Given the description of an element on the screen output the (x, y) to click on. 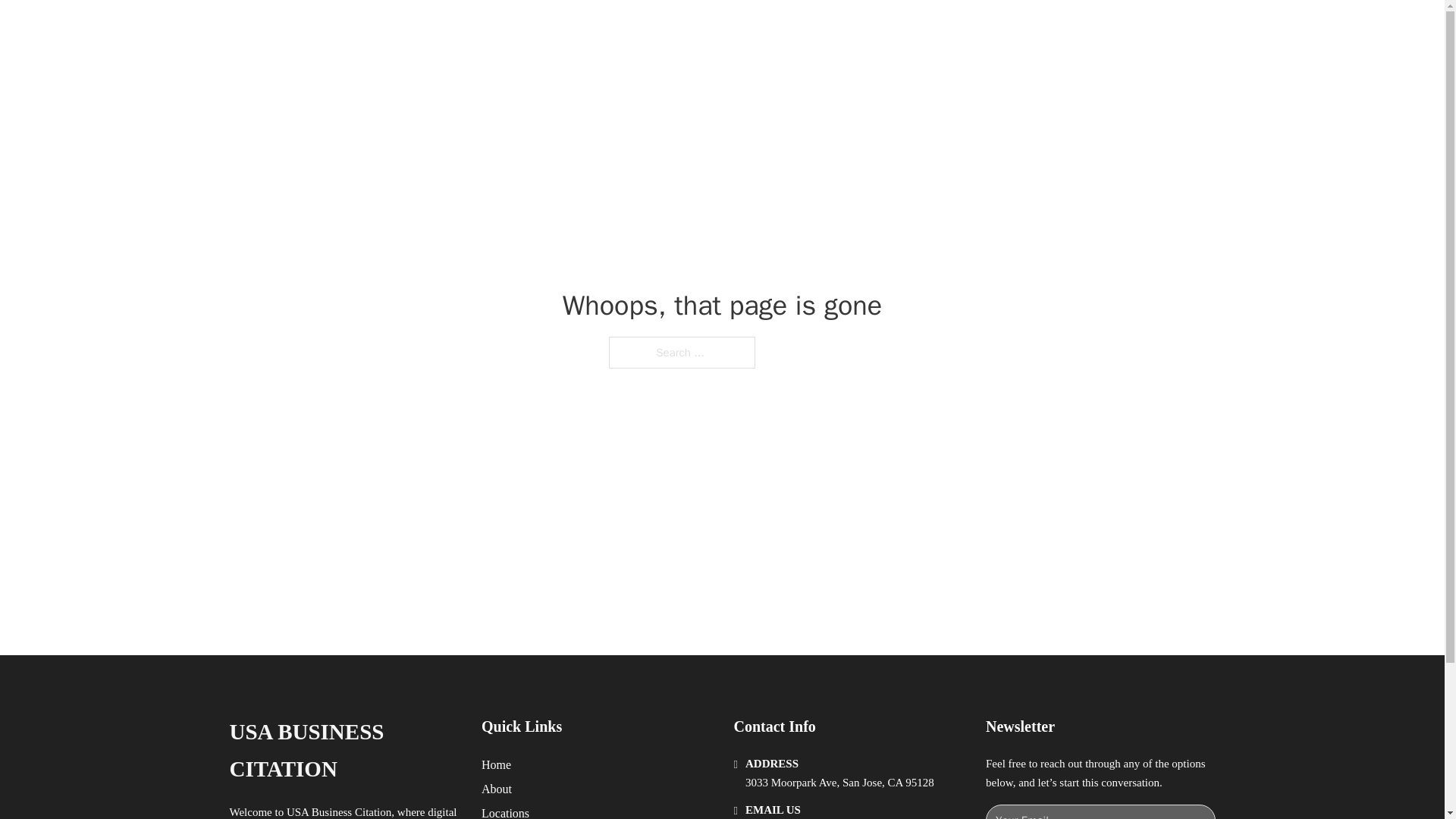
USA BUSINESS CITATION (343, 750)
Home (496, 764)
About (496, 788)
USA BUSINESS CITATION (433, 28)
HOME (919, 29)
LOCATIONS (990, 29)
Locations (505, 811)
